Given the description of an element on the screen output the (x, y) to click on. 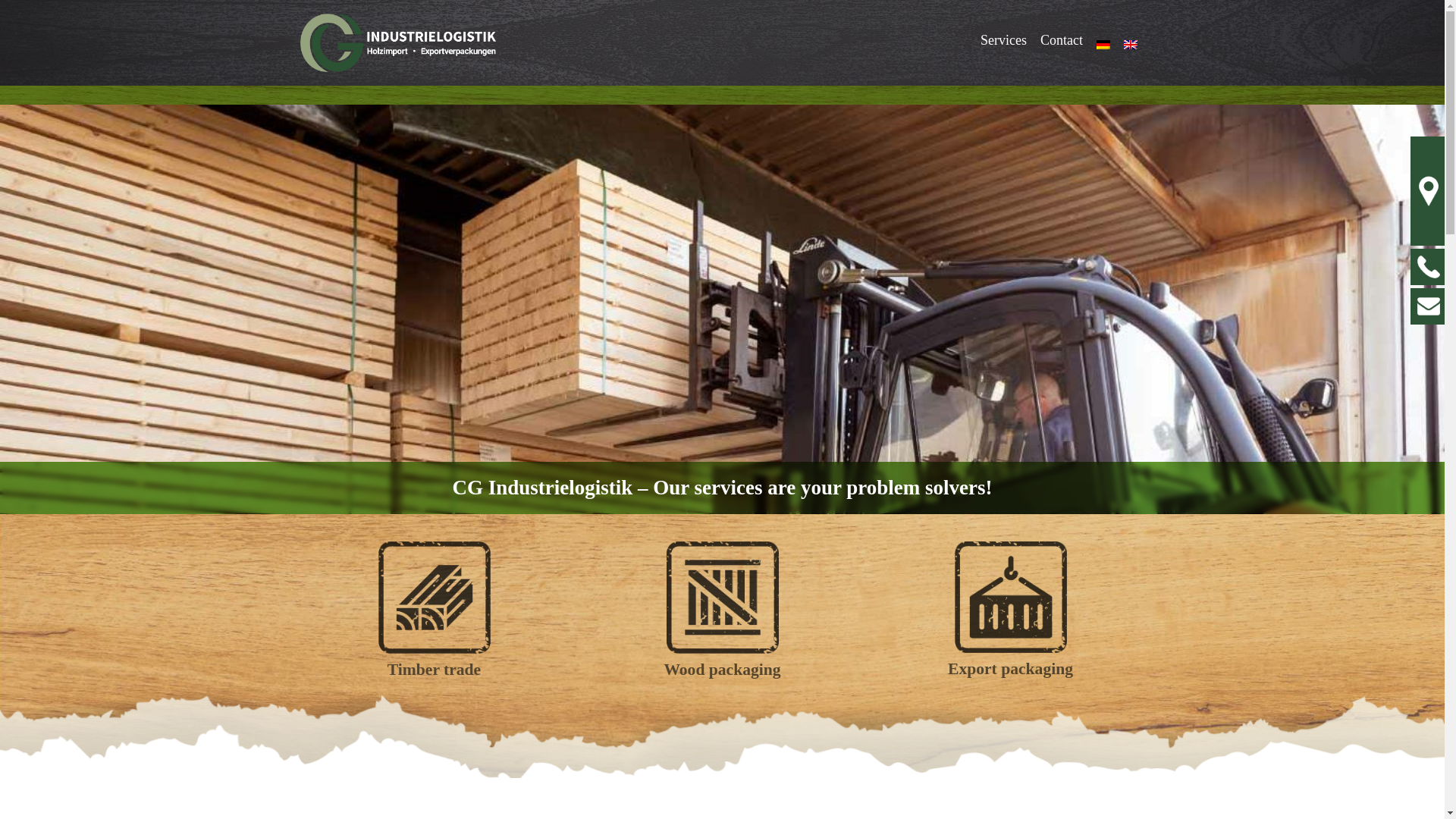
Timber trade (433, 610)
Services (1003, 40)
Contact (1061, 40)
Wood packaging (722, 610)
Export packaging (1010, 610)
